Given the description of an element on the screen output the (x, y) to click on. 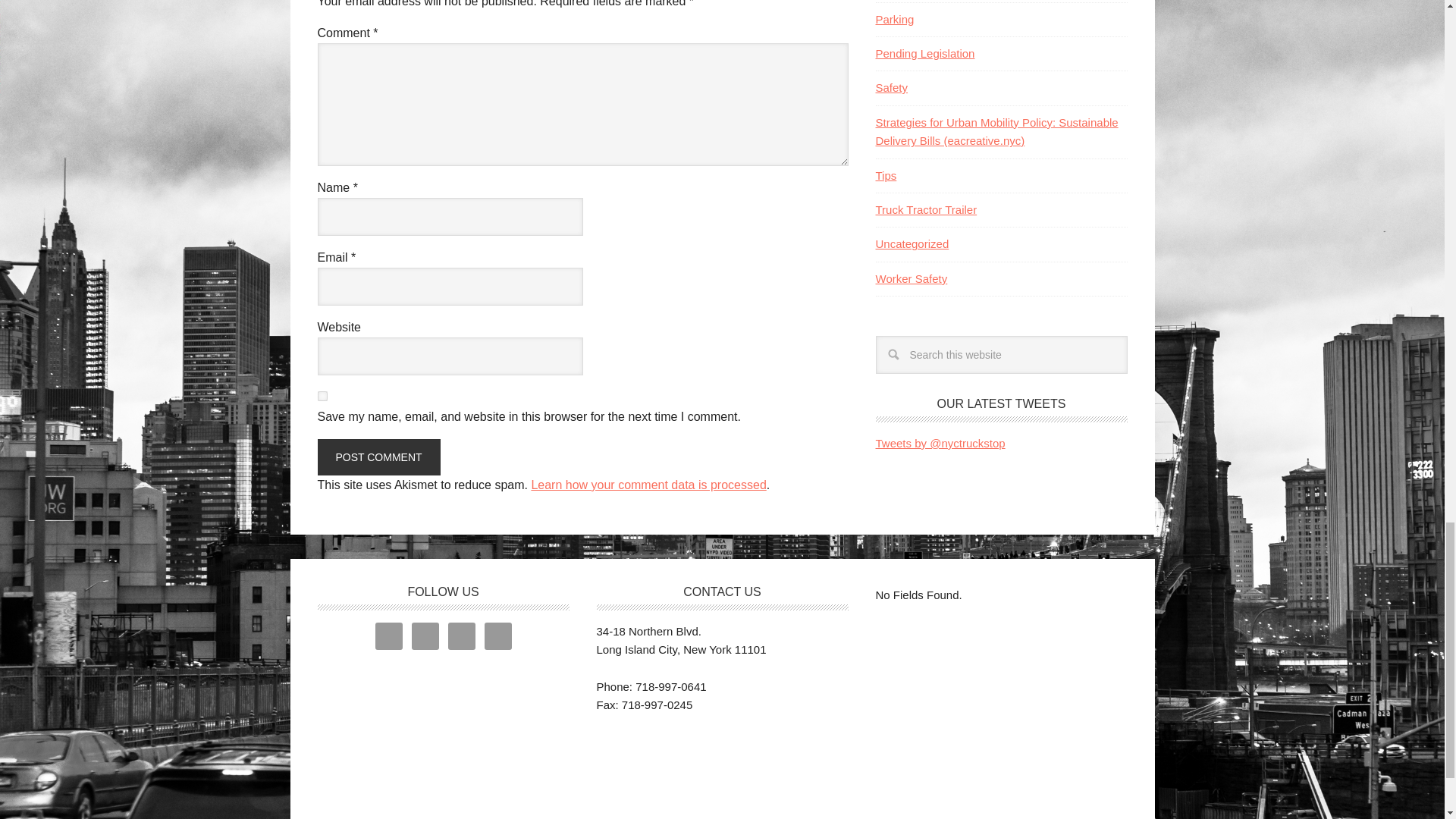
yes (321, 396)
Post Comment (378, 456)
Post Comment (378, 456)
